Given the description of an element on the screen output the (x, y) to click on. 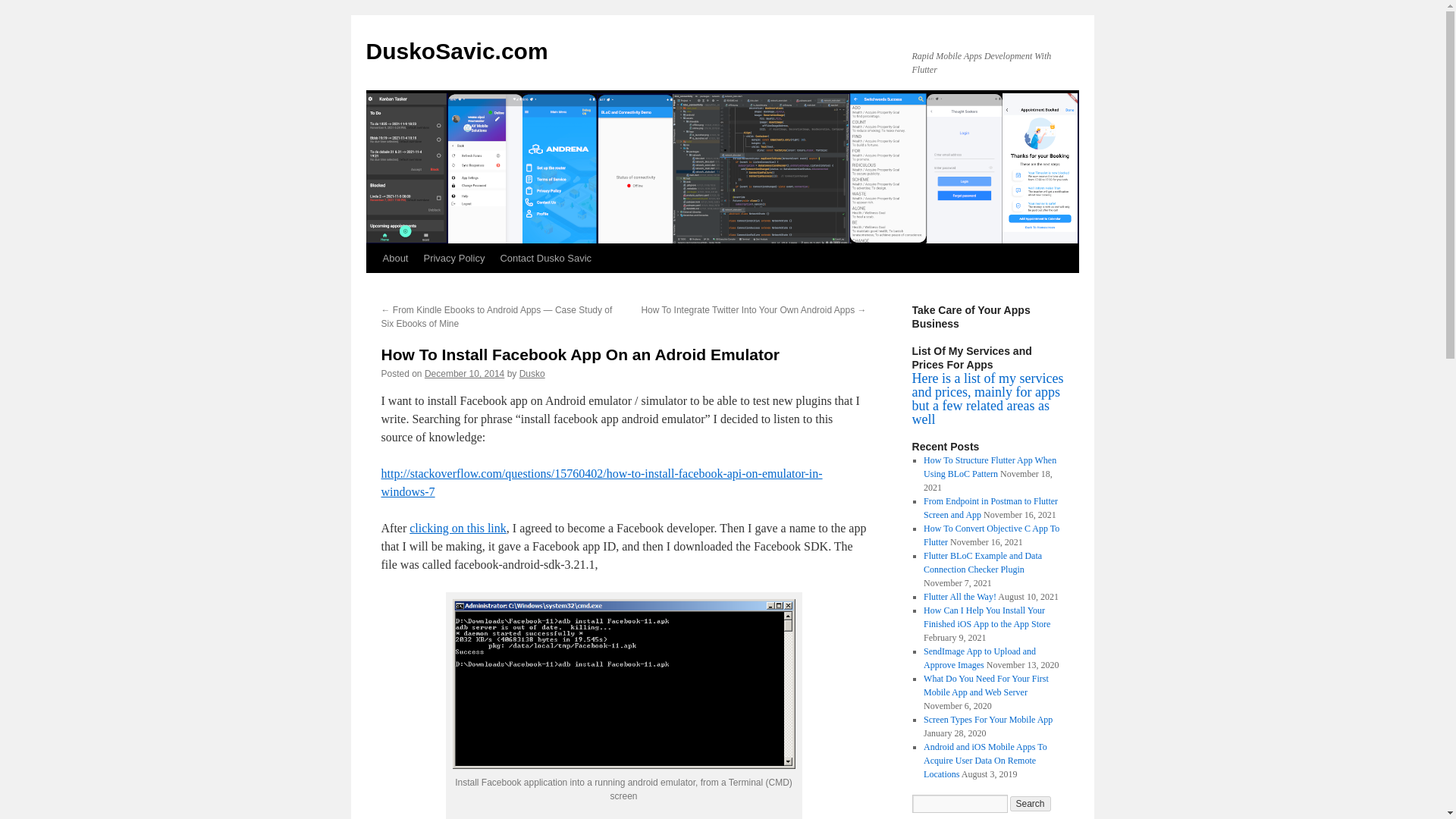
SendImage App to Upload and Approve Images (979, 658)
How To Structure Flutter App When Using BLoC Pattern (990, 467)
Dusko (531, 373)
Search (1030, 803)
How To Convert Objective C App To Flutter (991, 535)
DuskoSavic.com (456, 50)
Search (1030, 803)
